Given the description of an element on the screen output the (x, y) to click on. 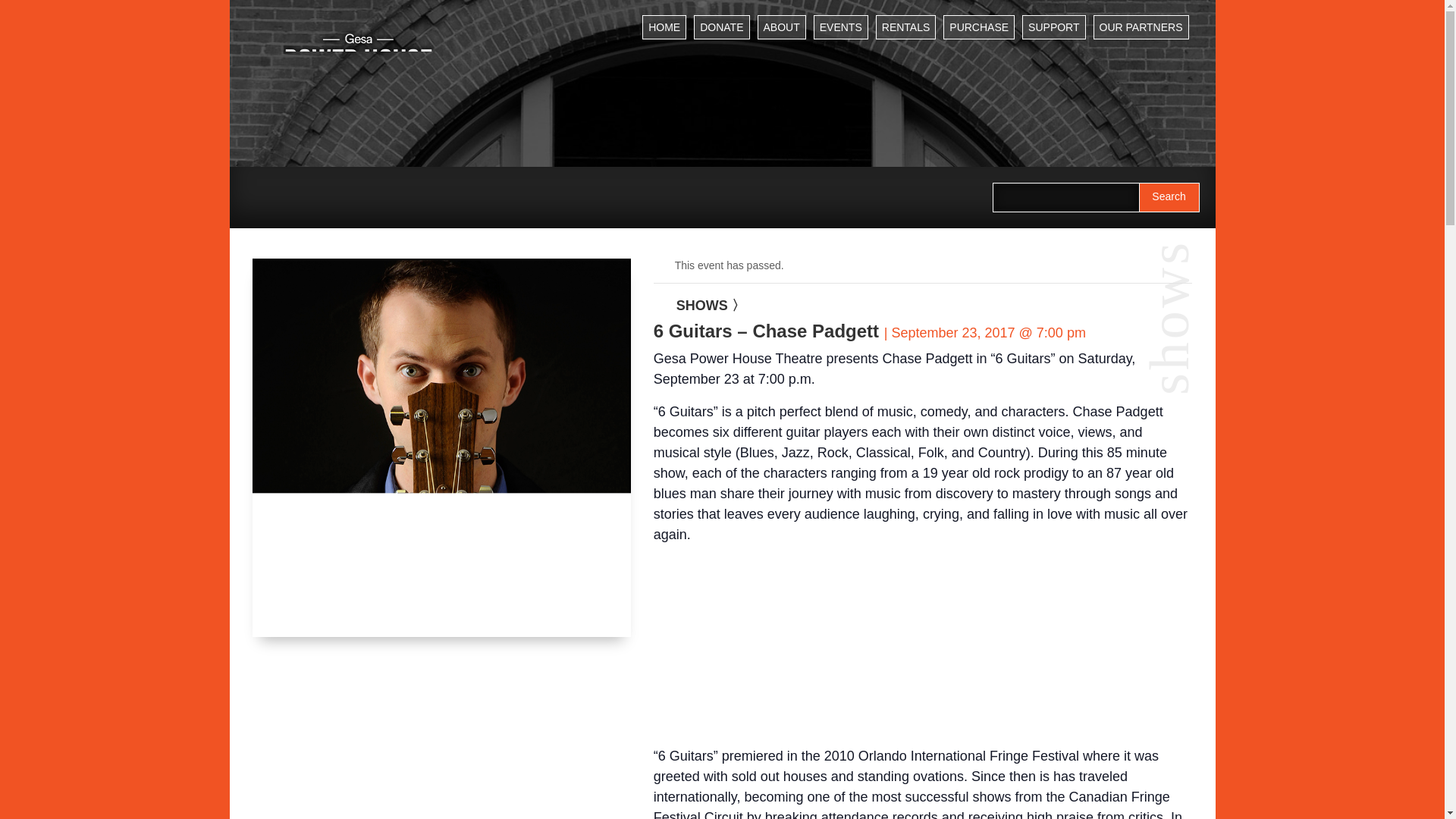
PURCHASE (978, 27)
ABOUT (781, 27)
Home (663, 27)
EVENTS (840, 27)
SUPPORT (1053, 27)
Events (840, 27)
Search (1168, 197)
RENTALS (906, 27)
HOME (663, 27)
Donate (721, 27)
